Given the description of an element on the screen output the (x, y) to click on. 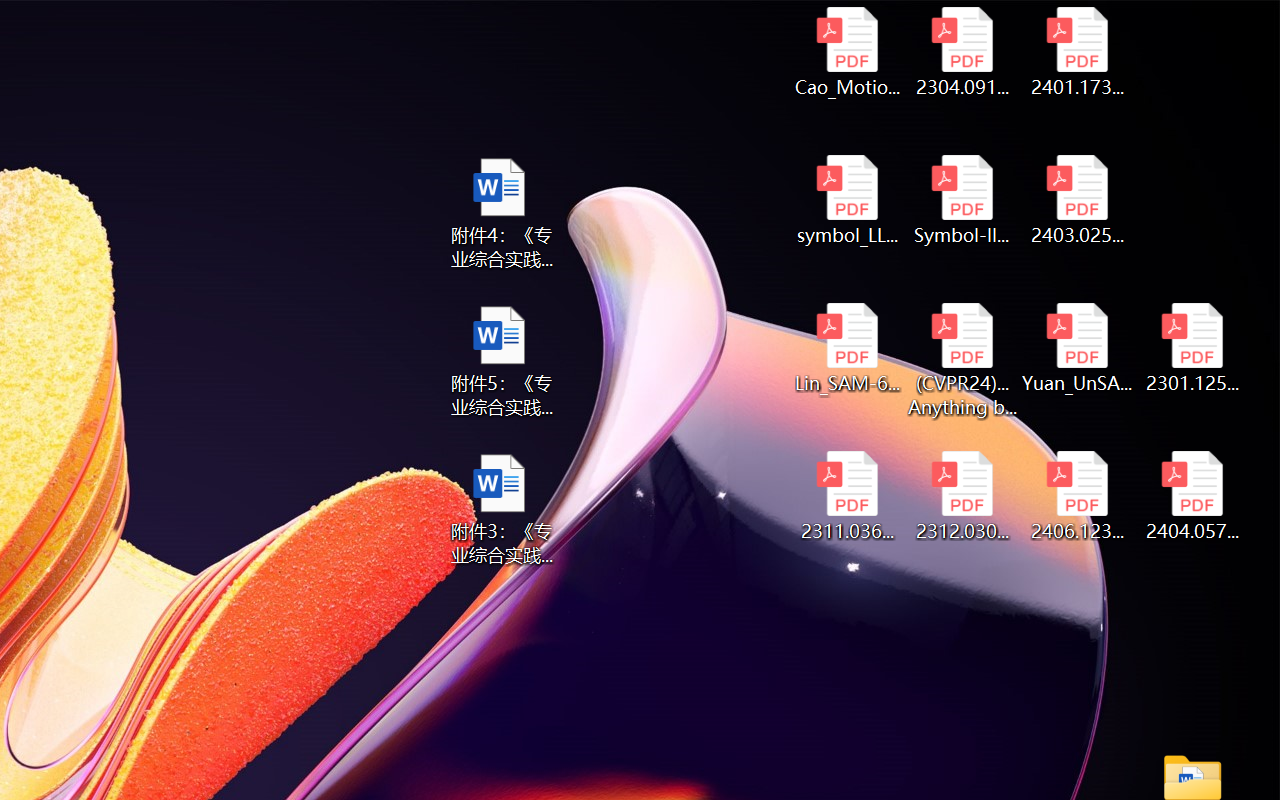
2401.17399v1.pdf (1077, 52)
2406.12373v2.pdf (1077, 496)
symbol_LLM.pdf (846, 200)
2311.03658v2.pdf (846, 496)
2301.12597v3.pdf (1192, 348)
(CVPR24)Matching Anything by Segmenting Anything.pdf (962, 360)
2403.02502v1.pdf (1077, 200)
2312.03032v2.pdf (962, 496)
2404.05719v1.pdf (1192, 496)
